Given the description of an element on the screen output the (x, y) to click on. 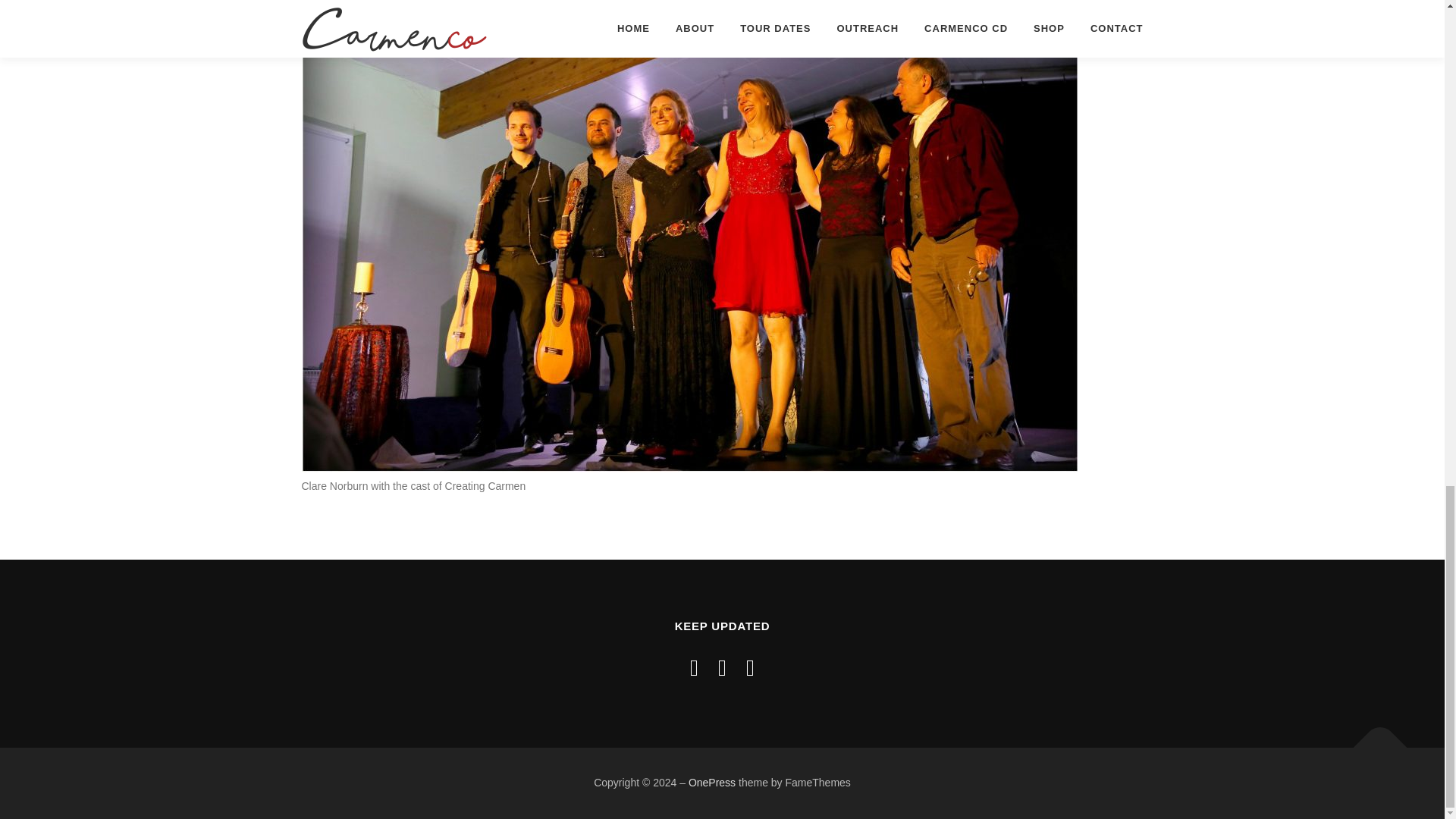
YouTube (749, 667)
Facebook (694, 667)
OnePress (711, 782)
Back To Top (1372, 739)
Twitter (721, 667)
